Given the description of an element on the screen output the (x, y) to click on. 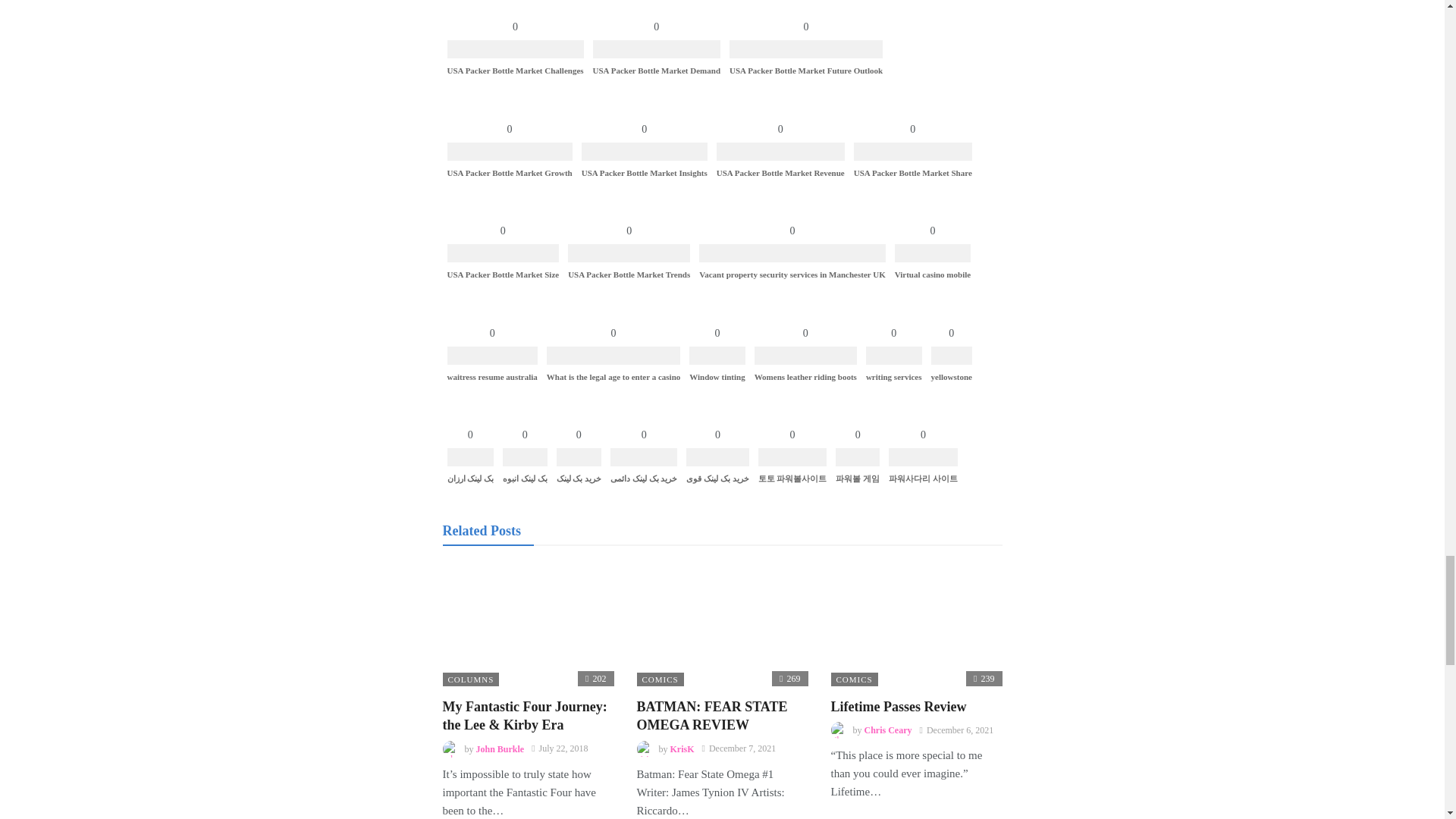
Lifetime Passes Review (917, 624)
Lifetime Passes Review (898, 706)
BATMAN: FEAR STATE OMEGA REVIEW (712, 715)
BATMAN: FEAR STATE OMEGA REVIEW (722, 624)
